Given the description of an element on the screen output the (x, y) to click on. 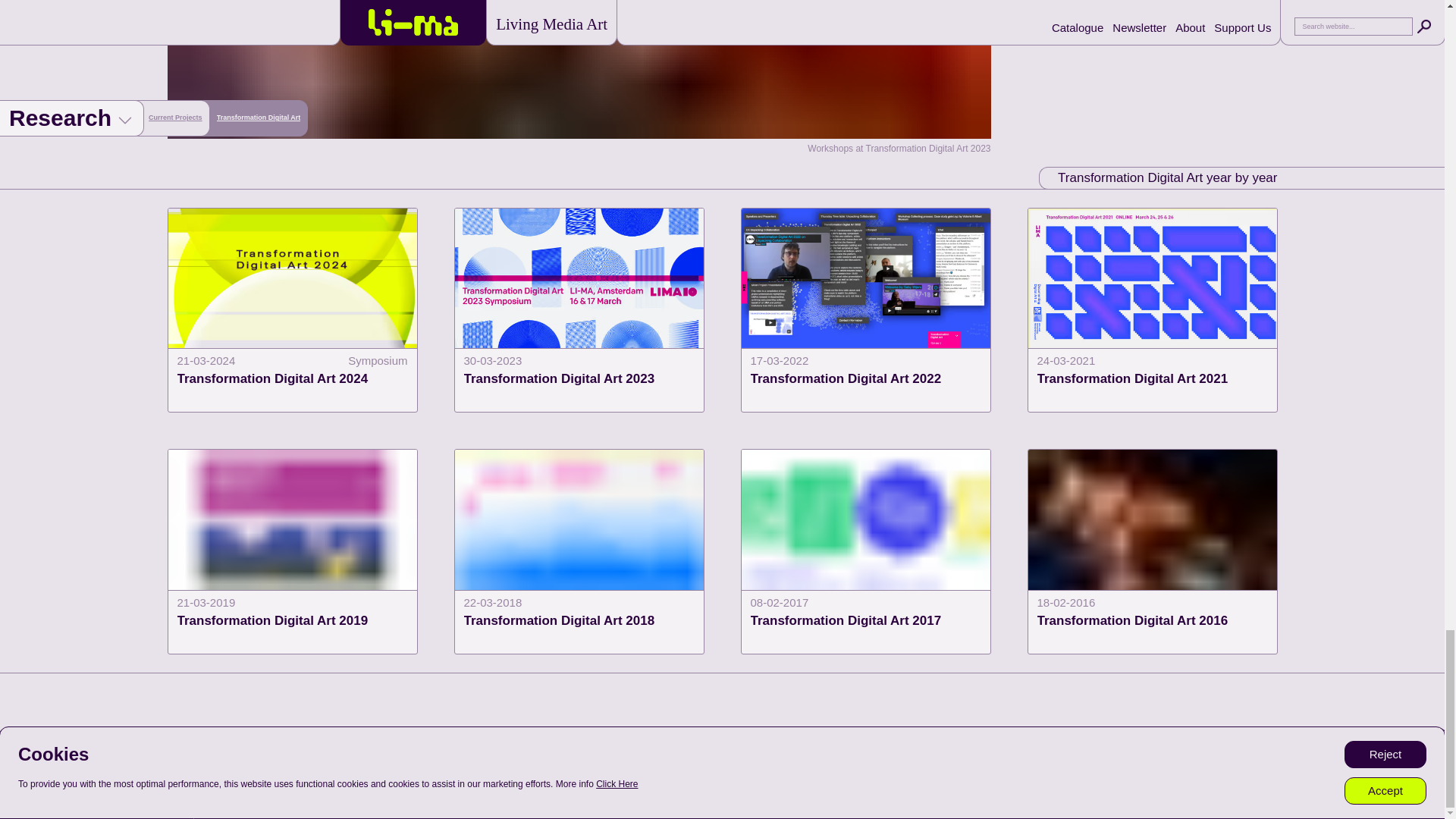
News (578, 310)
Practical Info (41, 784)
Press and Media (60, 770)
Network and Partners (578, 551)
